Given the description of an element on the screen output the (x, y) to click on. 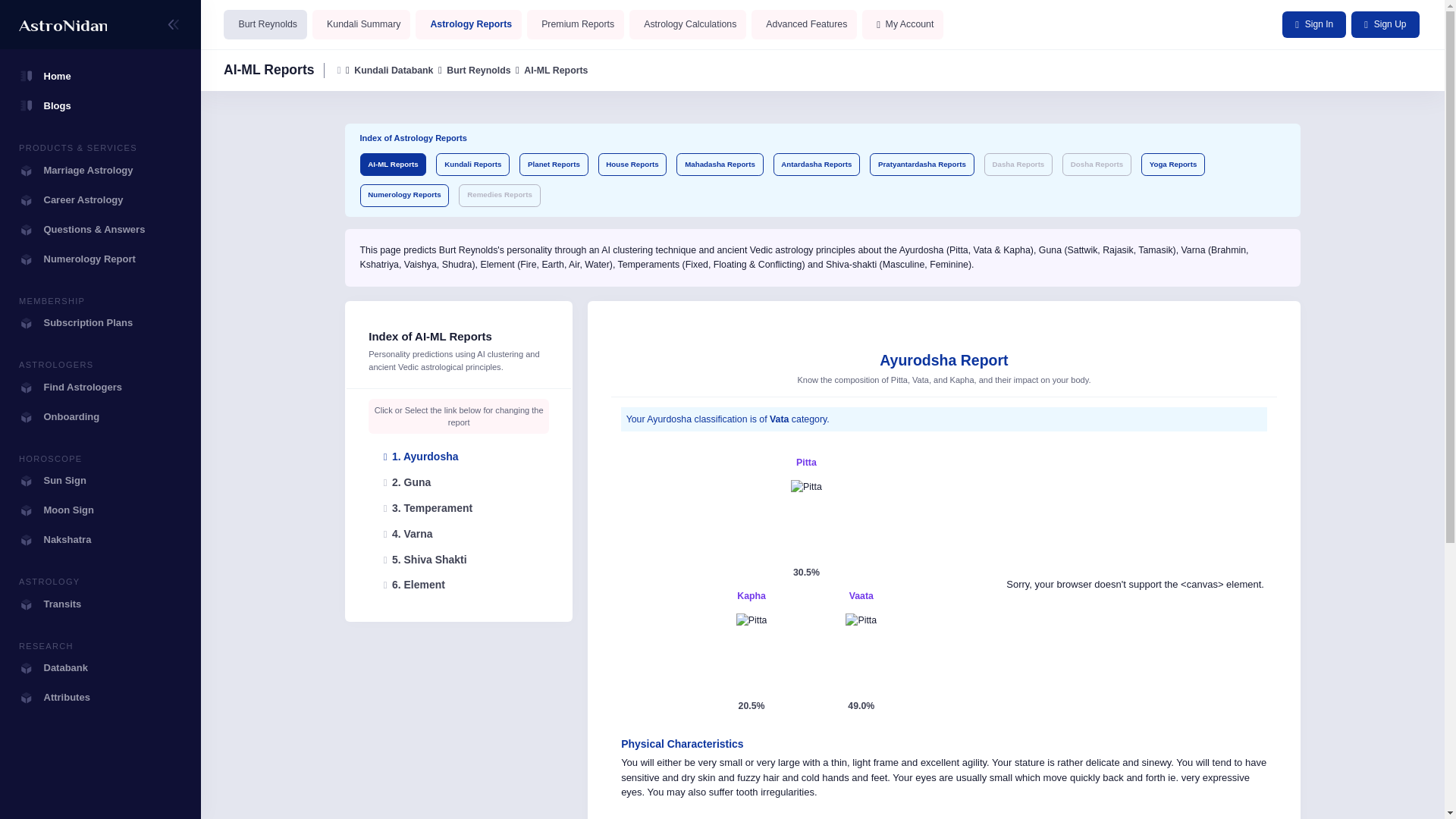
Numerology Report (100, 258)
AstroNidan Logo (62, 25)
Kundali Summary (361, 23)
Sun Sign Horoscope (100, 480)
Moon Sign (100, 509)
Blogs (100, 105)
Subscription (100, 322)
Burt Reynolds (265, 23)
Career Astrology (100, 199)
Transits (100, 603)
